Given the description of an element on the screen output the (x, y) to click on. 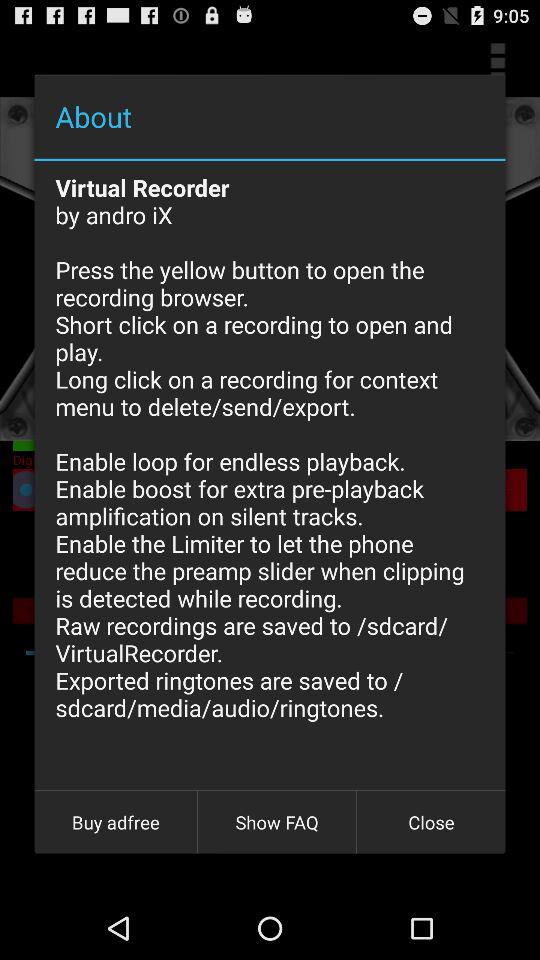
launch close at the bottom right corner (431, 821)
